Given the description of an element on the screen output the (x, y) to click on. 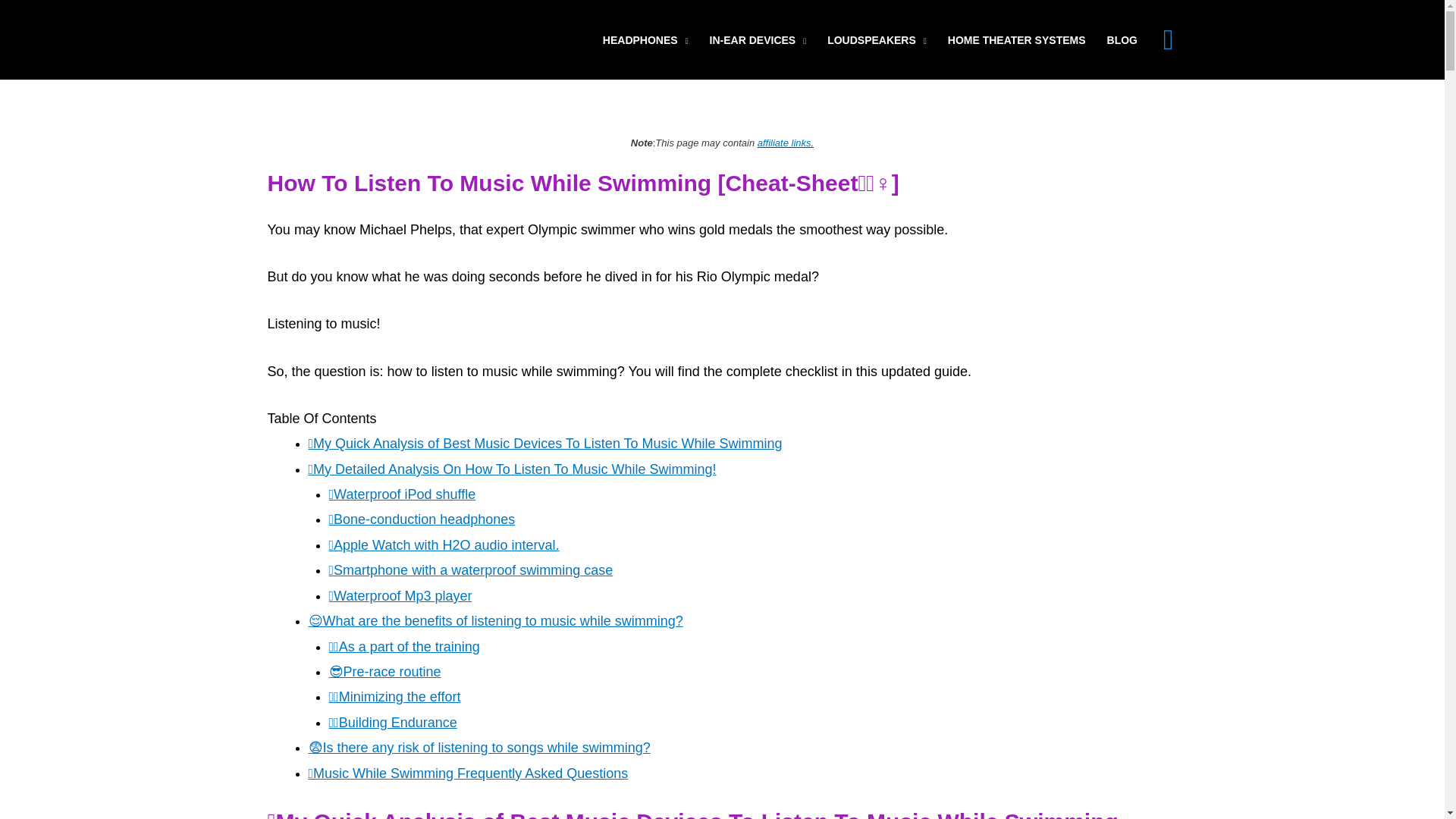
LOUDSPEAKERS (876, 39)
HEADPHONES (645, 39)
BLOG (1122, 39)
IN-EAR DEVICES (757, 39)
HOME THEATER SYSTEMS (1016, 39)
affiliate links (783, 142)
Search (1168, 39)
